Given the description of an element on the screen output the (x, y) to click on. 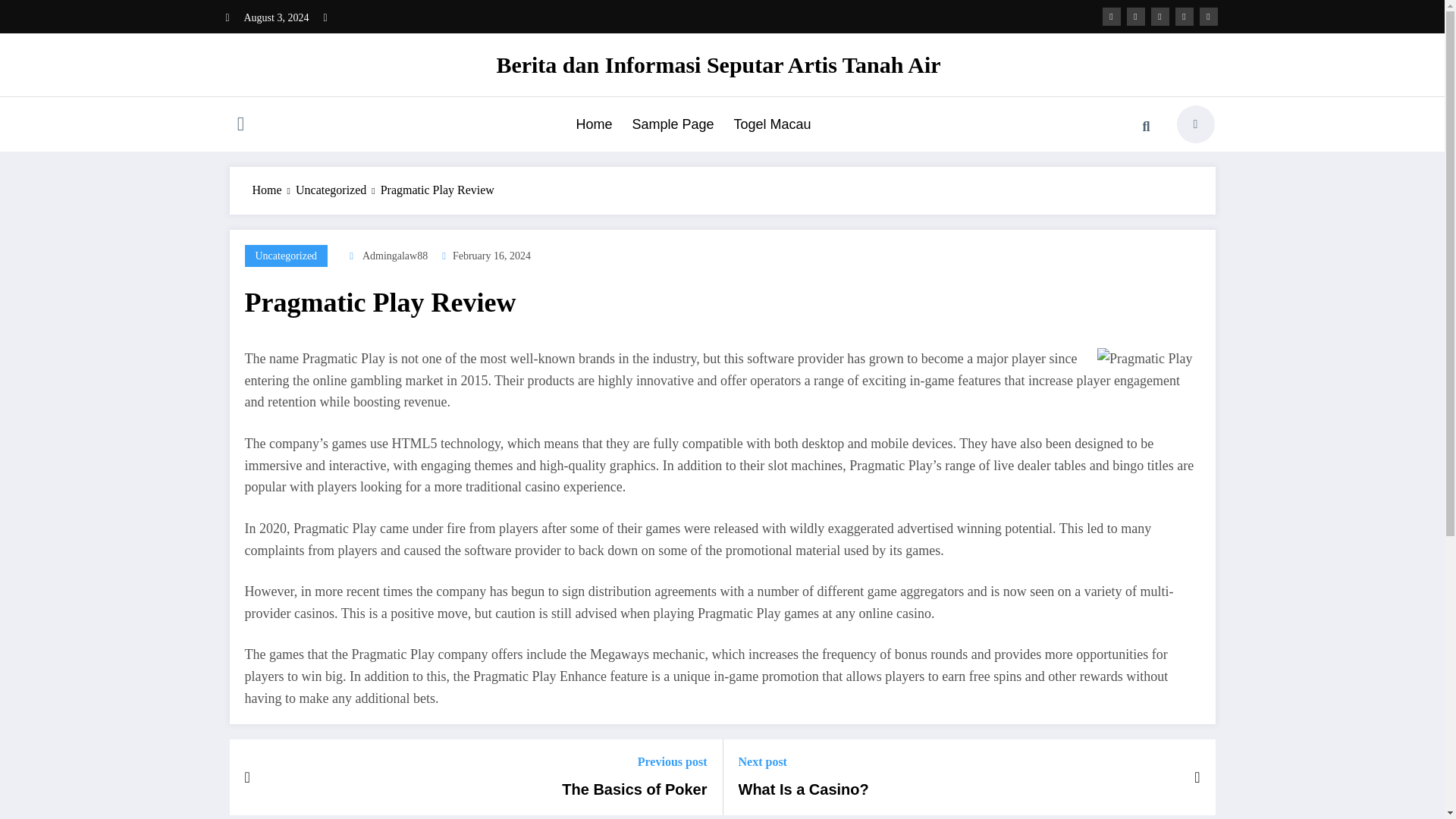
Berita dan Informasi Seputar Artis Tanah Air (718, 64)
date-time (491, 255)
Previous post (634, 761)
youtube (1208, 16)
Toggle Icon (239, 125)
facebook-f (1111, 16)
Berita dan Informasi Seputar Artis Tanah Air (718, 64)
The Basics of Poker (634, 789)
Home (266, 189)
Home (593, 124)
What Is a Casino? (803, 789)
dribbble (1160, 16)
Sample Page (672, 124)
fa-brands fa-x-twitter (1135, 16)
February 16, 2024 (491, 255)
